Given the description of an element on the screen output the (x, y) to click on. 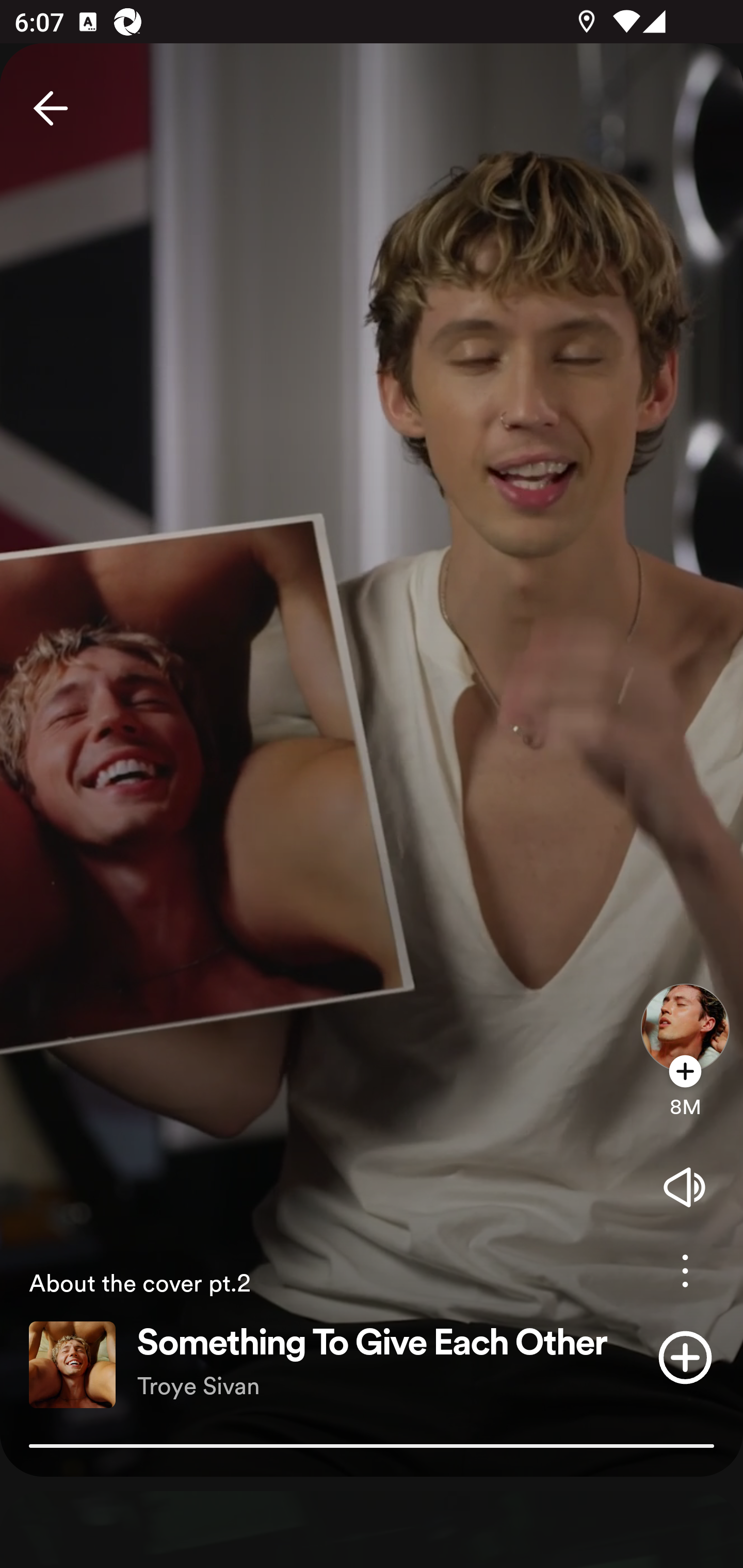
Back (50, 108)
Navigate to Troye Sivan artist page (685, 1011)
8000000 followers. Follow Troye Sivan (685, 1096)
Mute (685, 1187)
More options for song  (685, 1271)
About the cover pt.2 (320, 1281)
Add item (684, 1356)
